Given the description of an element on the screen output the (x, y) to click on. 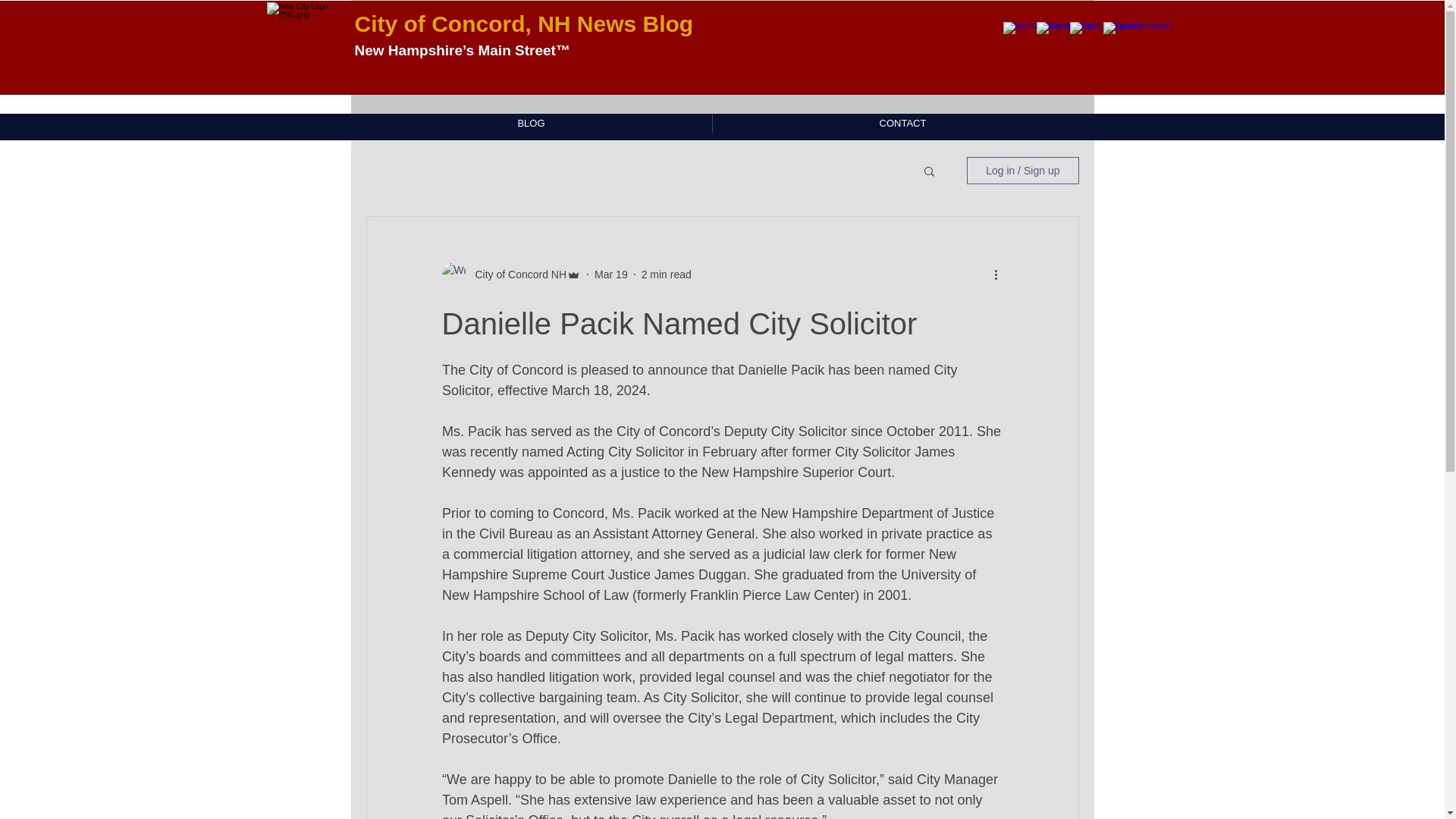
City of Concord NH (515, 274)
City of Concord, NH News Blog  (527, 23)
2 min read (666, 274)
Mar 19 (610, 274)
BLOG (530, 122)
CONTACT (903, 122)
